Given the description of an element on the screen output the (x, y) to click on. 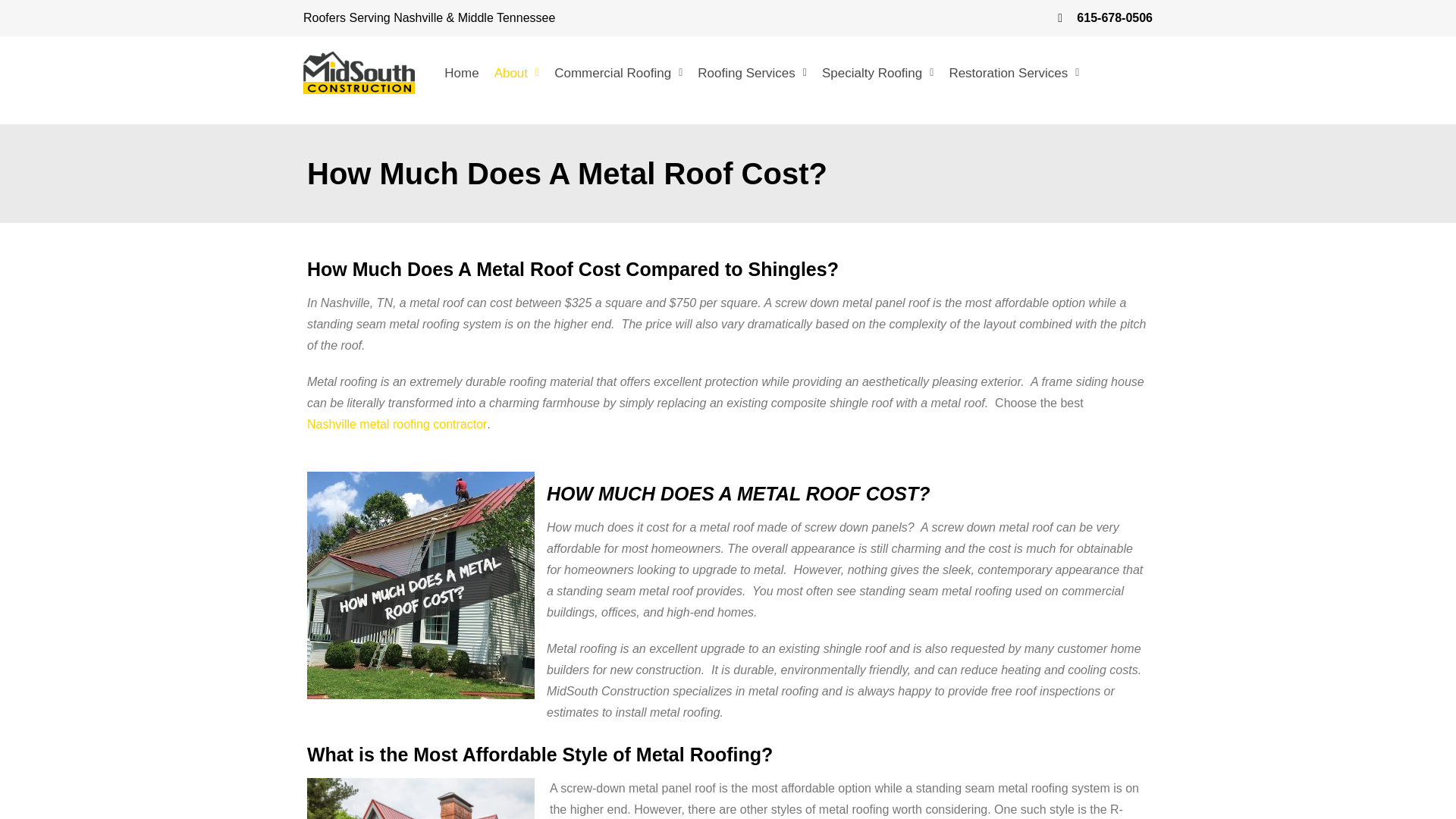
615-678-0506 (944, 17)
How Much Does a Metal Roof Cost - MidSouth Construction LLC (420, 585)
Restoration Services (1013, 72)
About (516, 72)
Home (461, 72)
 - MidSouth Construction LLC (420, 798)
Roofing Services (751, 72)
Commercial Roofing (618, 72)
Specialty Roofing (876, 72)
